Given the description of an element on the screen output the (x, y) to click on. 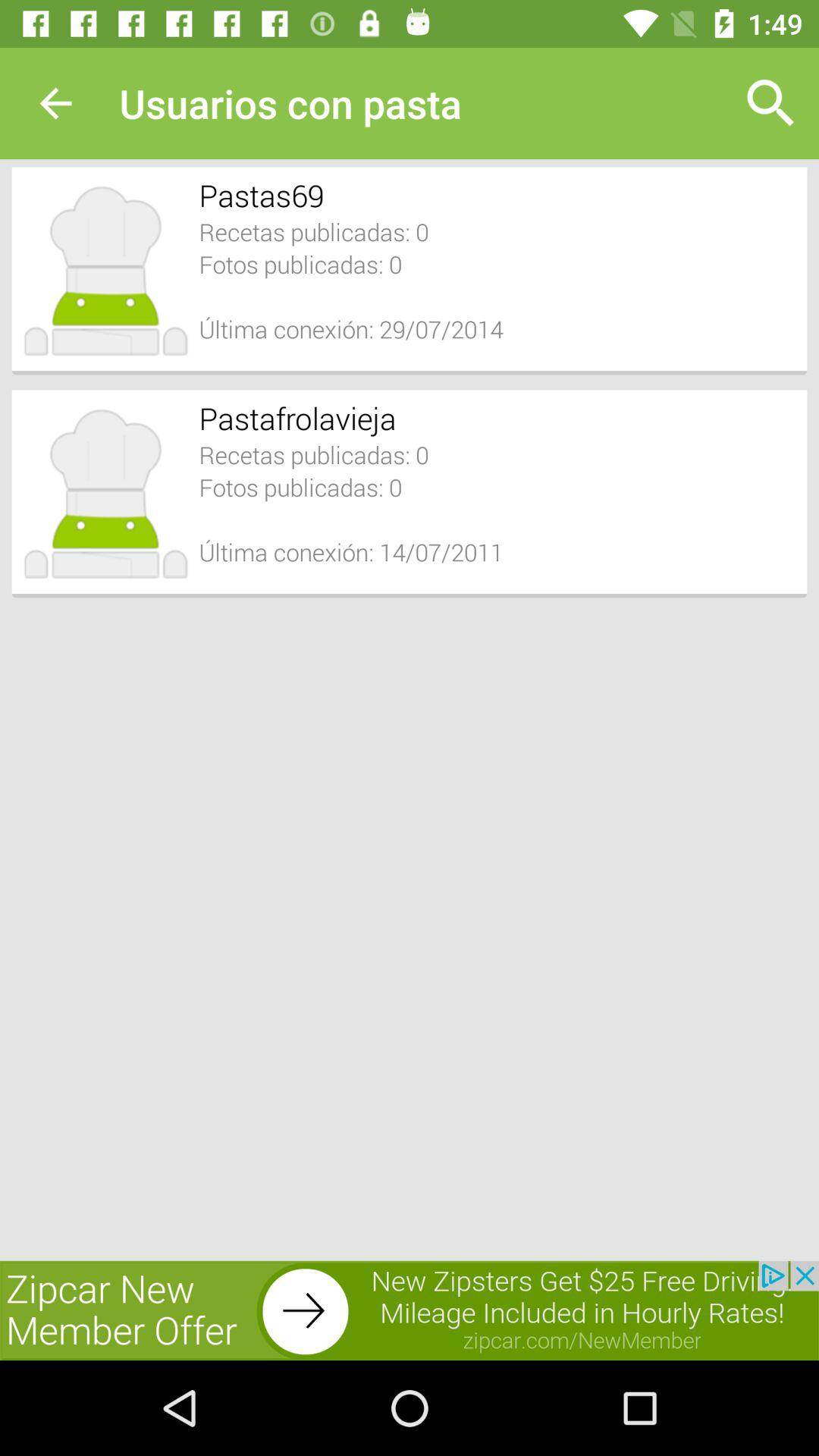
view advertisement (409, 1310)
